Given the description of an element on the screen output the (x, y) to click on. 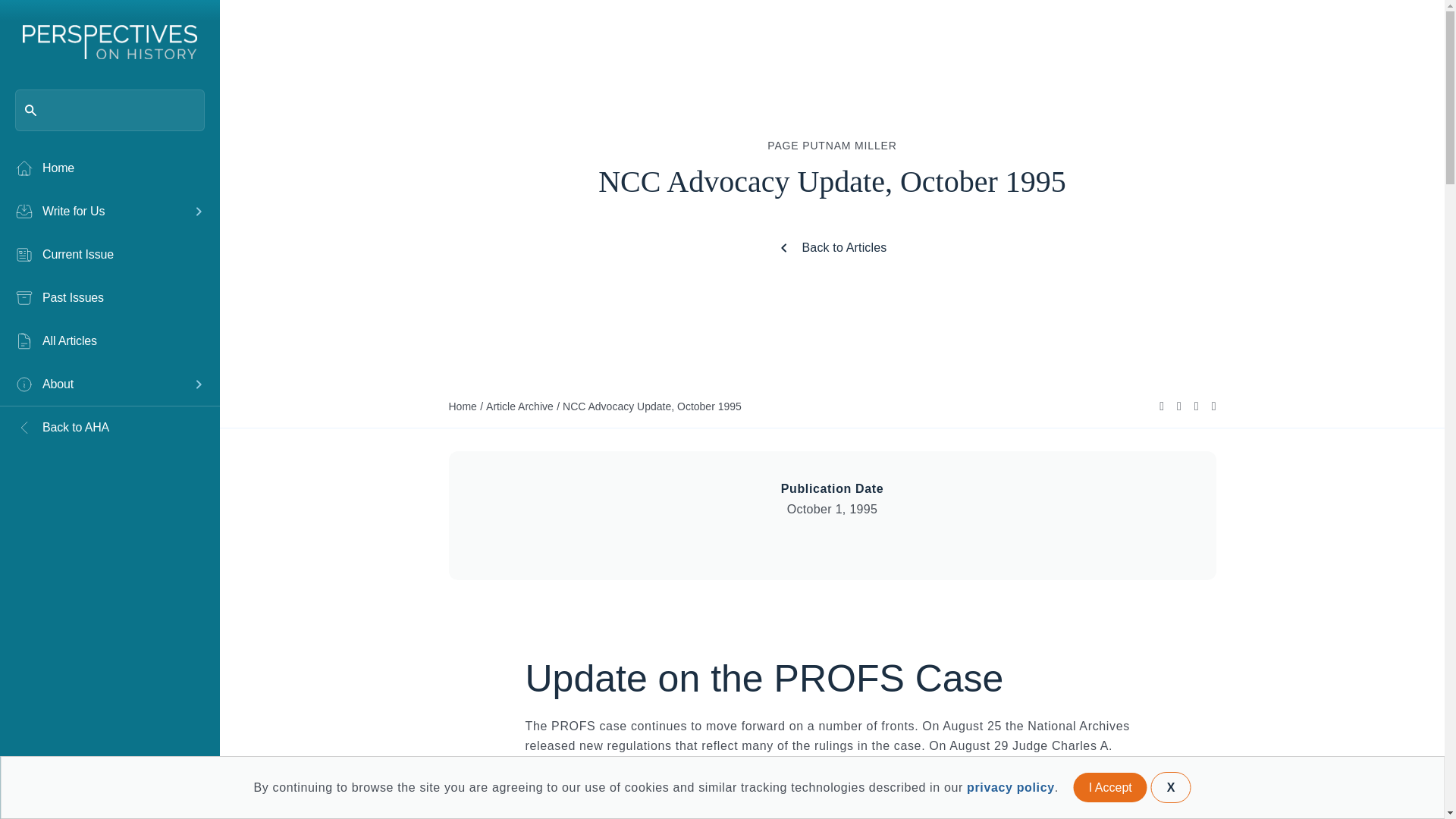
I Accept (1110, 787)
All Articles (109, 341)
Donate (160, 784)
Search (38, 18)
Log In (59, 784)
About (98, 384)
Past Issues (109, 297)
Write for Us (98, 211)
privacy policy (1010, 787)
Back to AHA (109, 427)
Current Issue (109, 254)
X (1171, 787)
Home (109, 168)
